Given the description of an element on the screen output the (x, y) to click on. 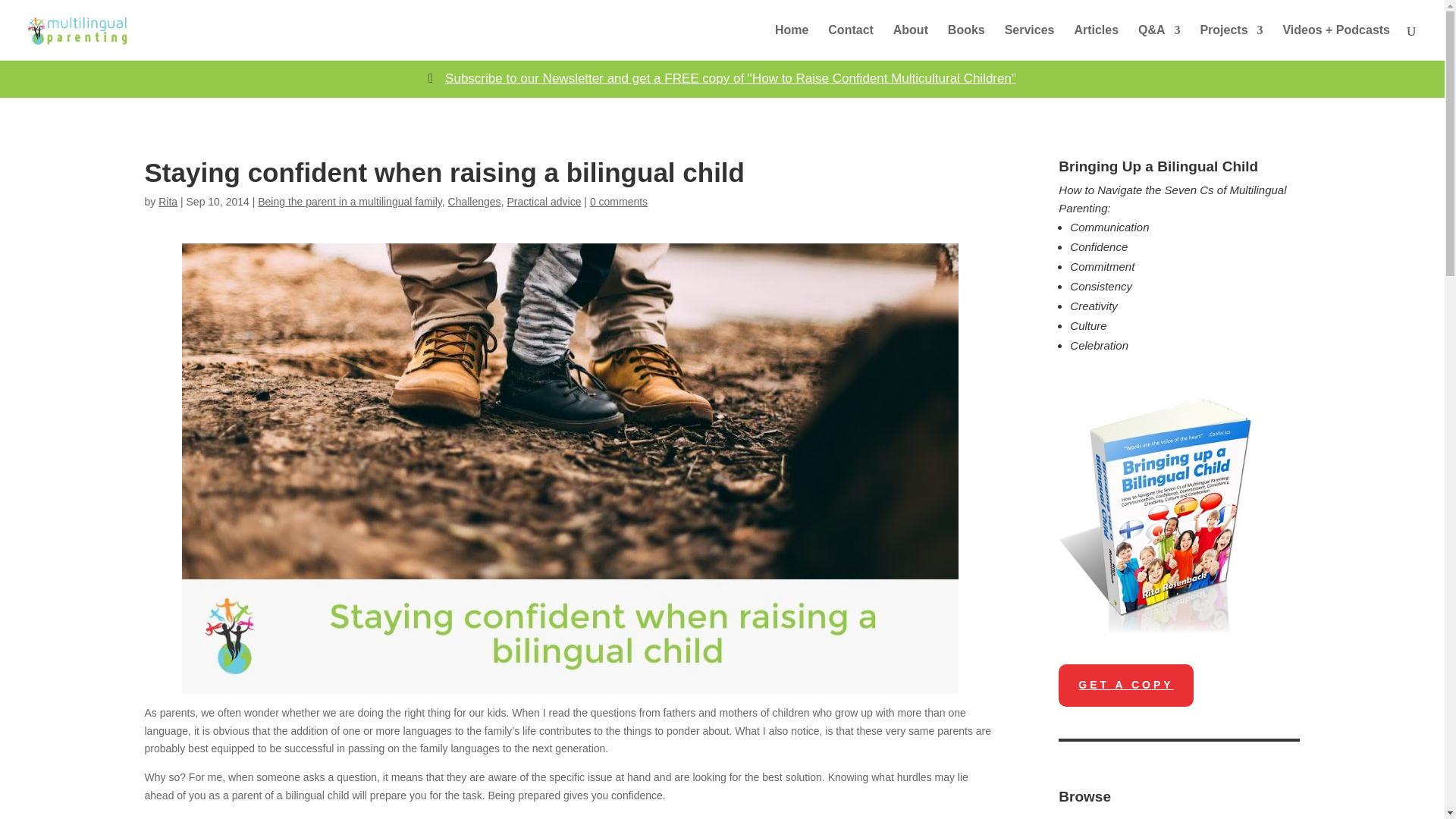
Home (791, 42)
Contact (850, 42)
Services (1029, 42)
Practical advice (543, 201)
About (910, 42)
Books (966, 42)
Posts by Rita (167, 201)
Projects (1230, 42)
0 comments (618, 201)
